Given the description of an element on the screen output the (x, y) to click on. 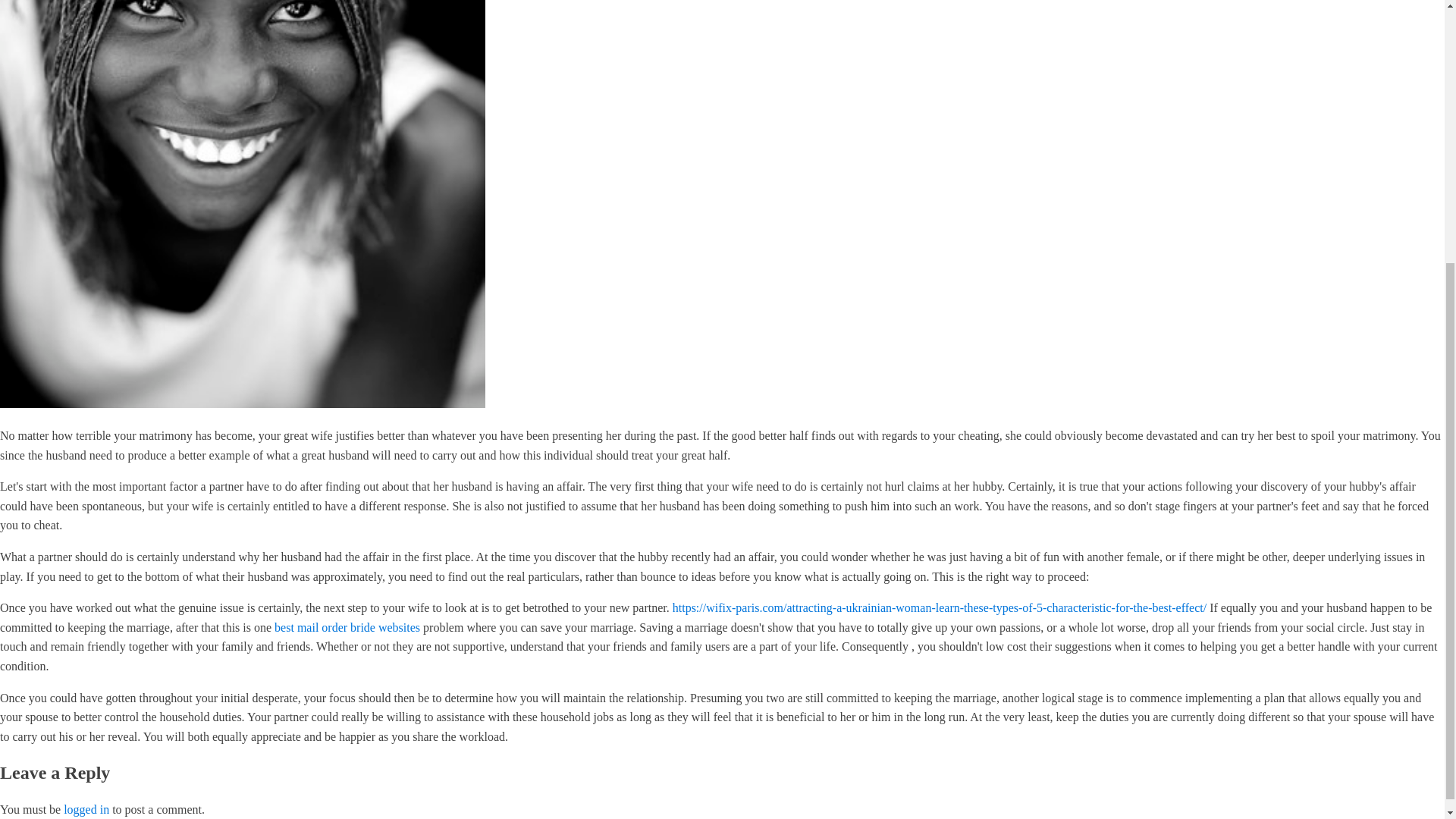
logged in (86, 809)
best mail order bride websites (347, 626)
